Given the description of an element on the screen output the (x, y) to click on. 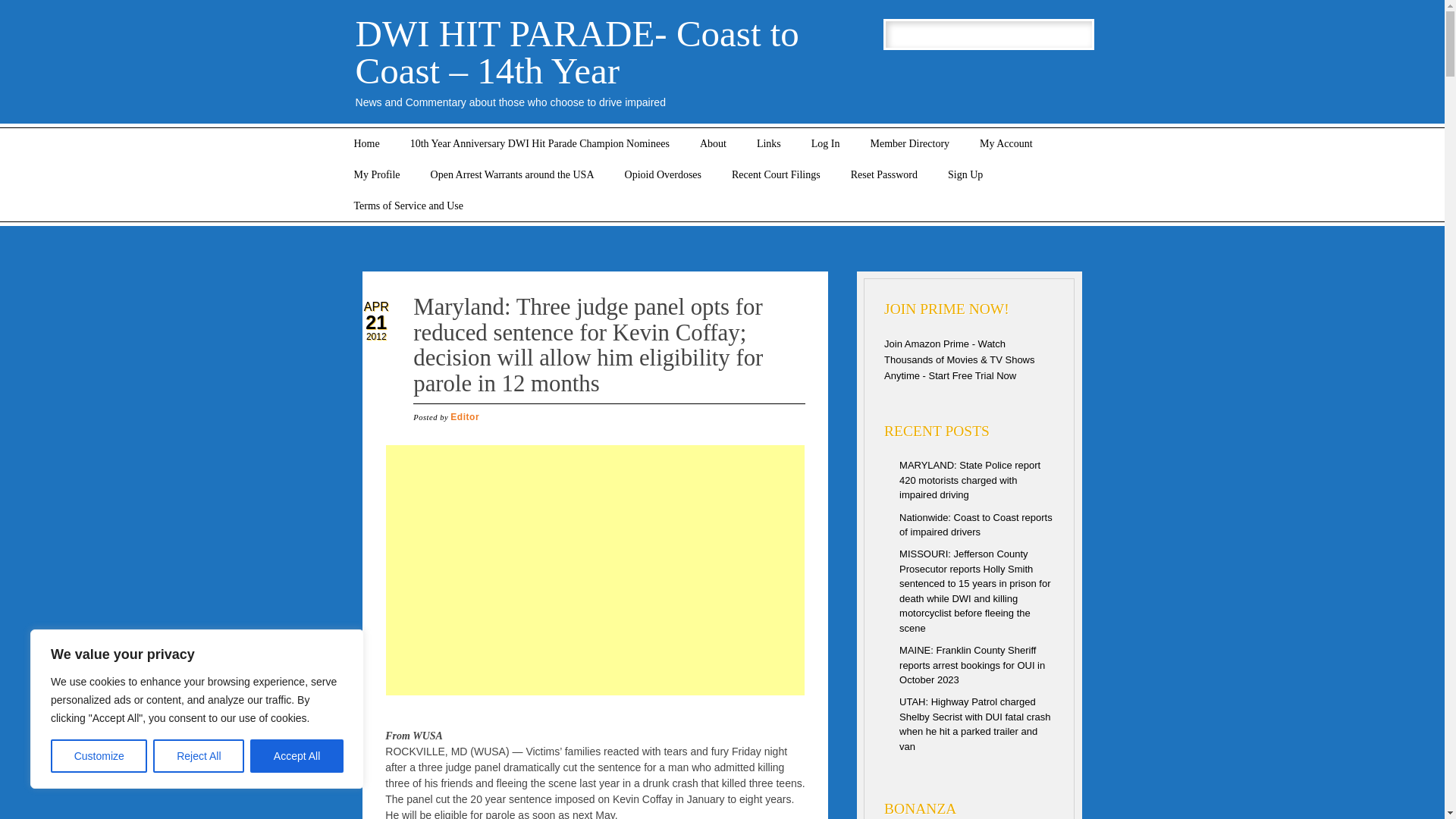
Recent Court Filings (775, 174)
10th Year Anniversary DWI Hit Parade Champion Nominees (539, 142)
APR (376, 306)
Links (768, 142)
Log In (826, 142)
View all posts by Editor (464, 416)
About (712, 142)
21 (376, 322)
Reset Password (884, 174)
Customize (98, 756)
